Given the description of an element on the screen output the (x, y) to click on. 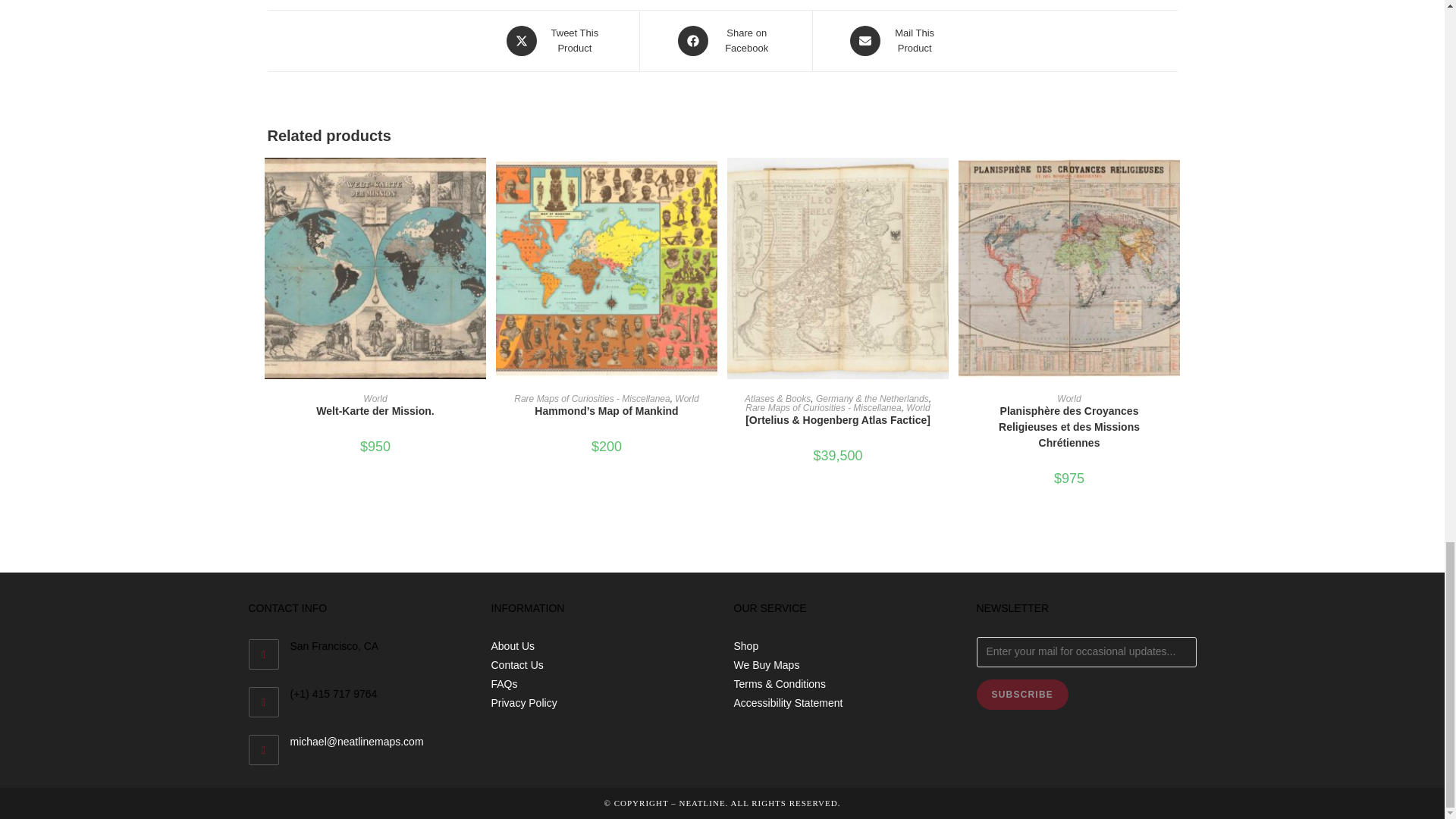
Rare Maps of Curiosities - Miscellanea (725, 40)
Welt-Karte der Mission. (591, 398)
Subscribe (893, 40)
World (374, 411)
World (554, 40)
